Given the description of an element on the screen output the (x, y) to click on. 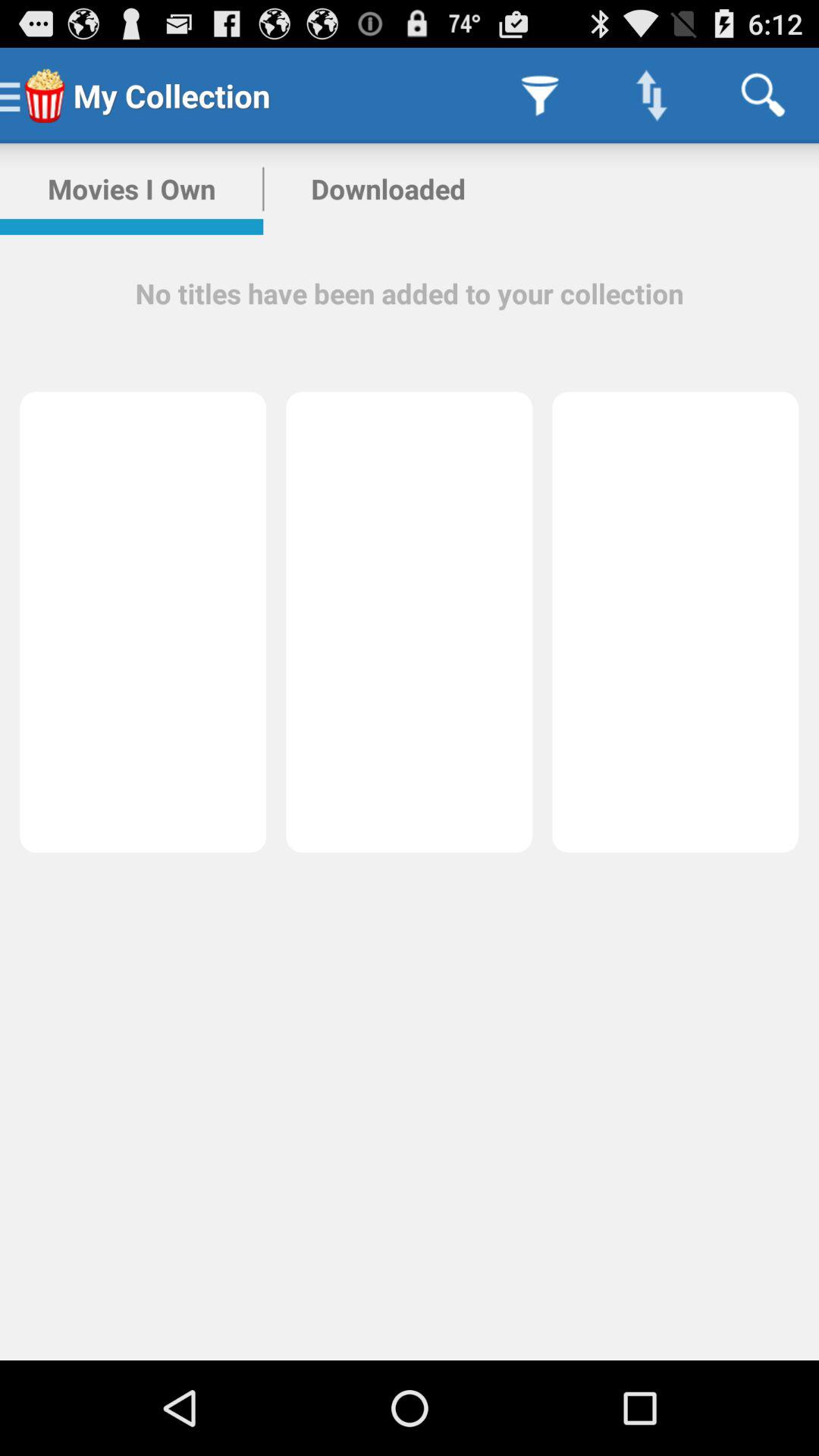
open downloaded app (388, 188)
